Given the description of an element on the screen output the (x, y) to click on. 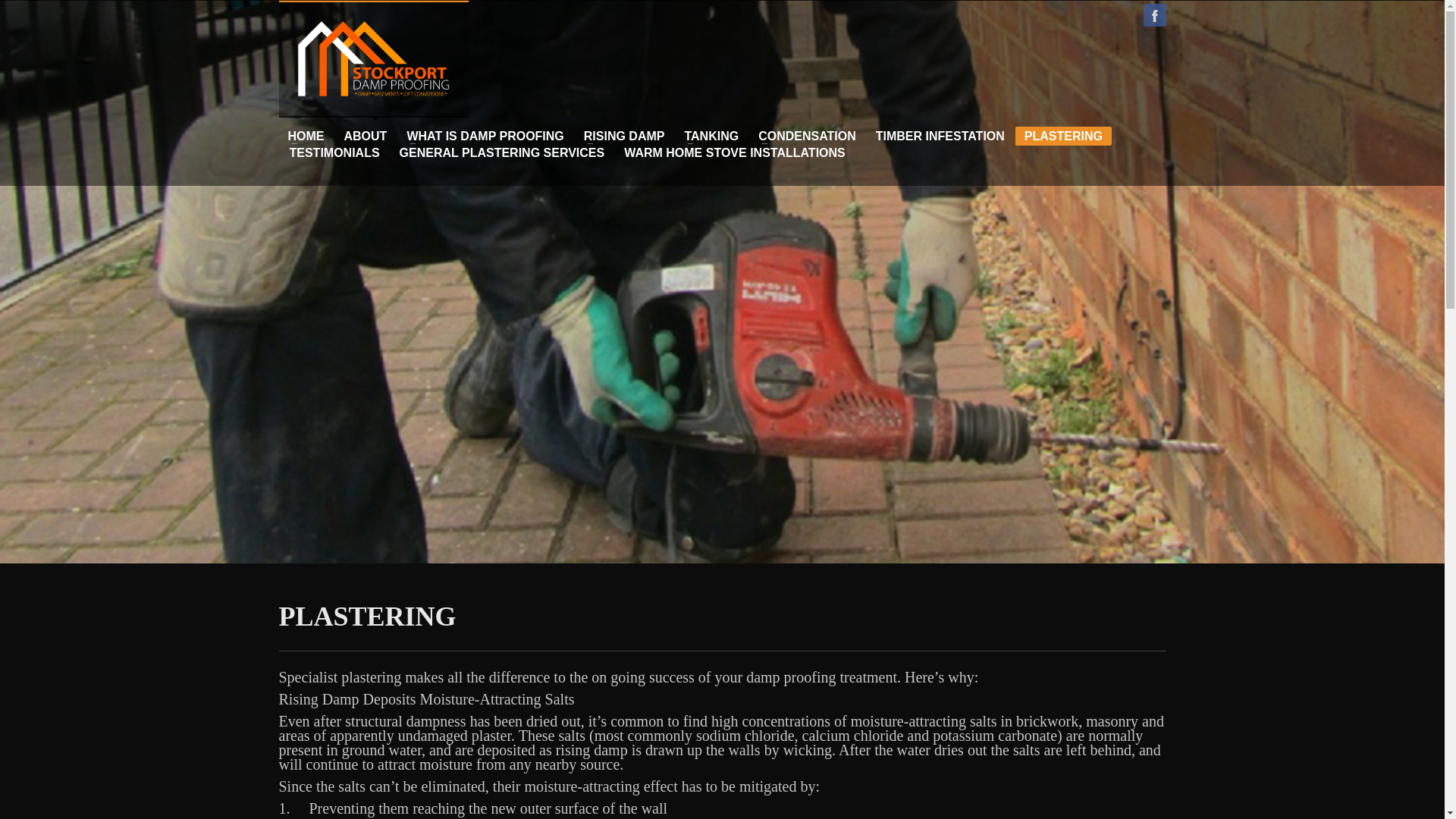
WARM HOME STOVE INSTALLATIONS (734, 153)
ABOUT (365, 136)
TESTIMONIALS (334, 153)
Stockport Damp Proofing and Plastering Experts (372, 59)
PLASTERING (1063, 135)
TIMBER INFESTATION (939, 136)
GENERAL PLASTERING SERVICES (502, 153)
